Given the description of an element on the screen output the (x, y) to click on. 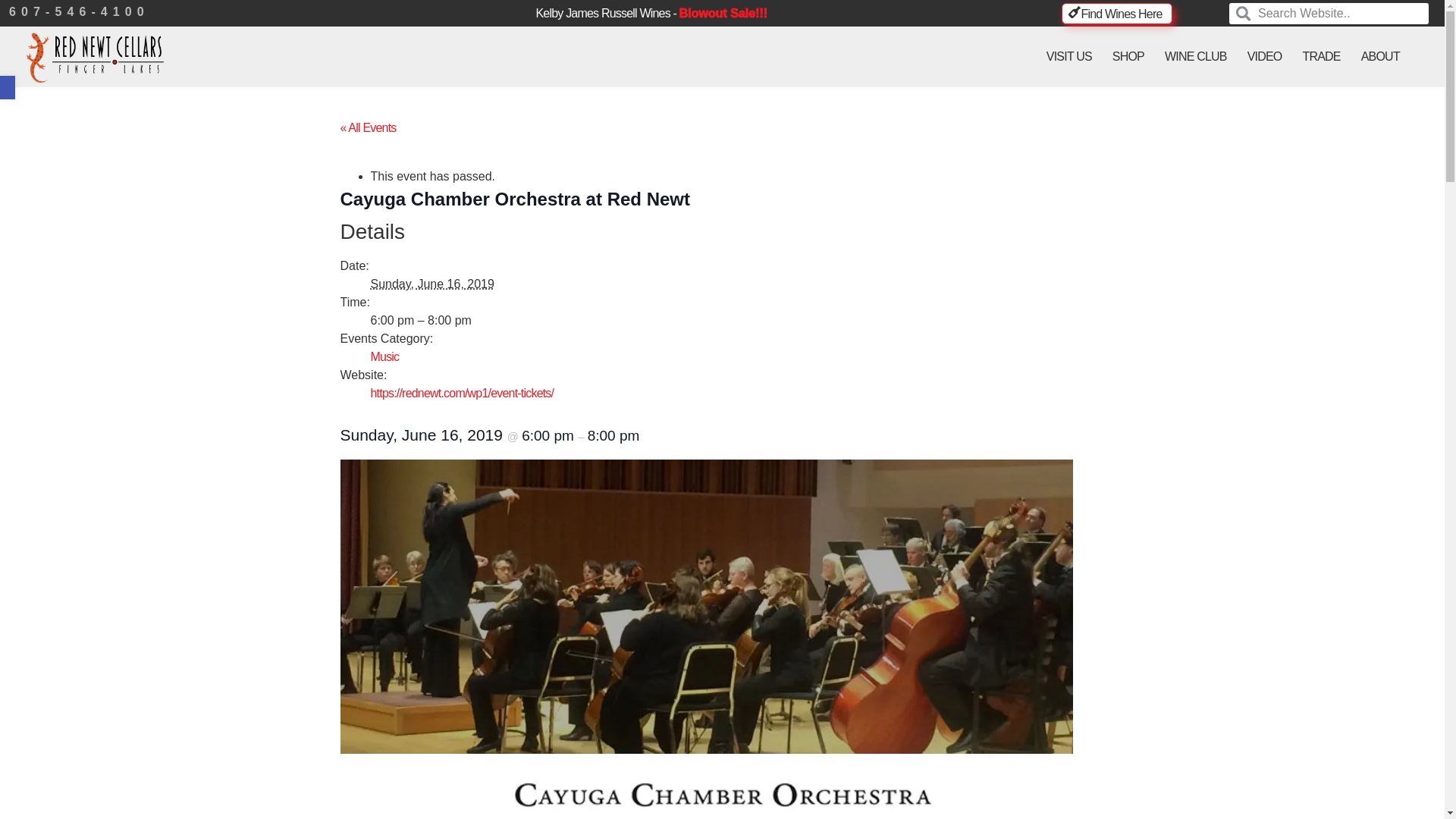
Kelby James Russell Wines - Blowout Sale!!! (650, 13)
ABOUT (1379, 56)
SHOP (1127, 56)
VIDEO (1265, 56)
WINE CLUB (1195, 56)
2019-06-16 (461, 321)
TRADE (1321, 56)
VISIT US (1069, 56)
2019-06-16 (431, 283)
Find Wines Here (1116, 13)
